Given the description of an element on the screen output the (x, y) to click on. 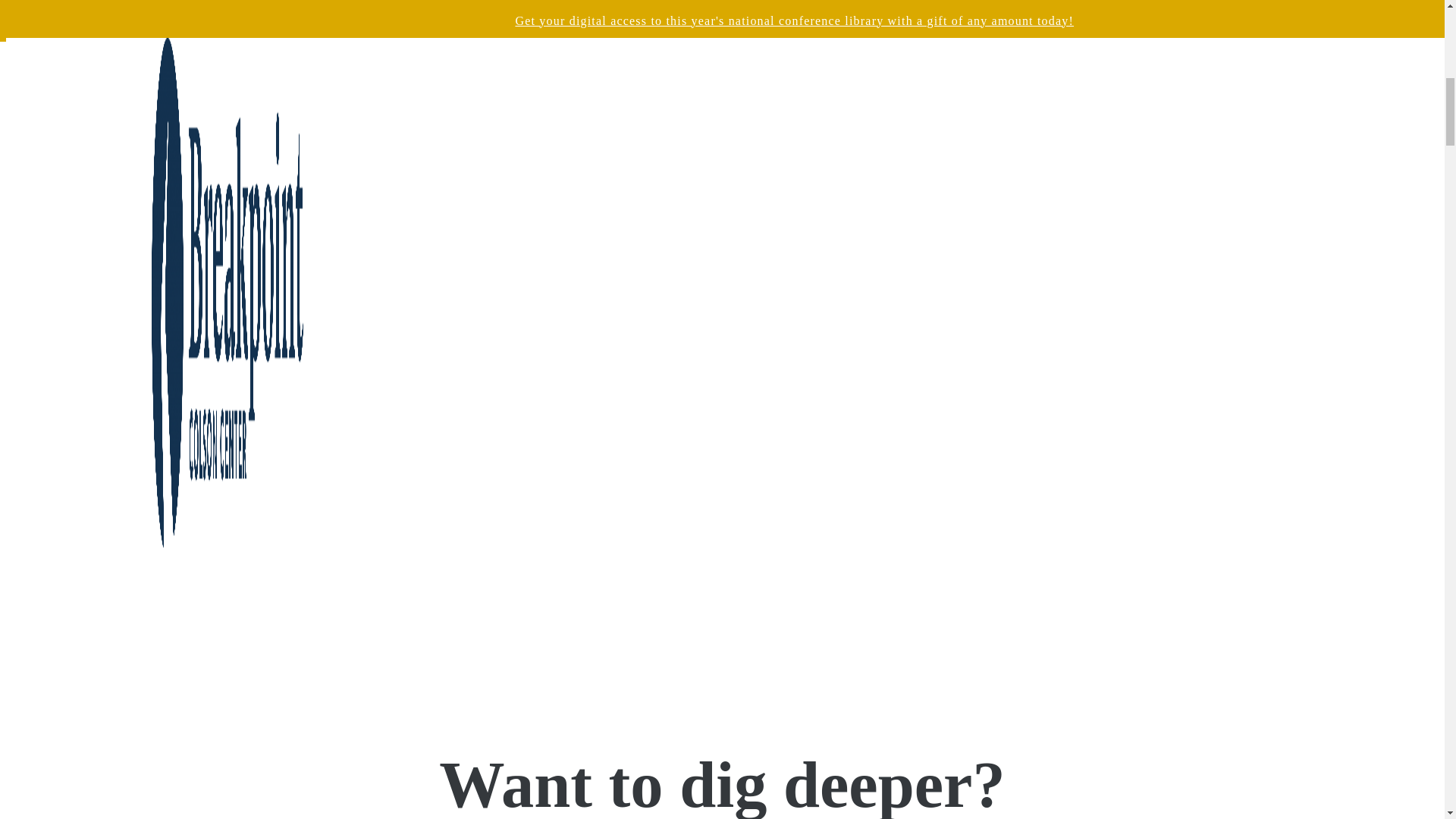
ASK HERE (721, 490)
